Given the description of an element on the screen output the (x, y) to click on. 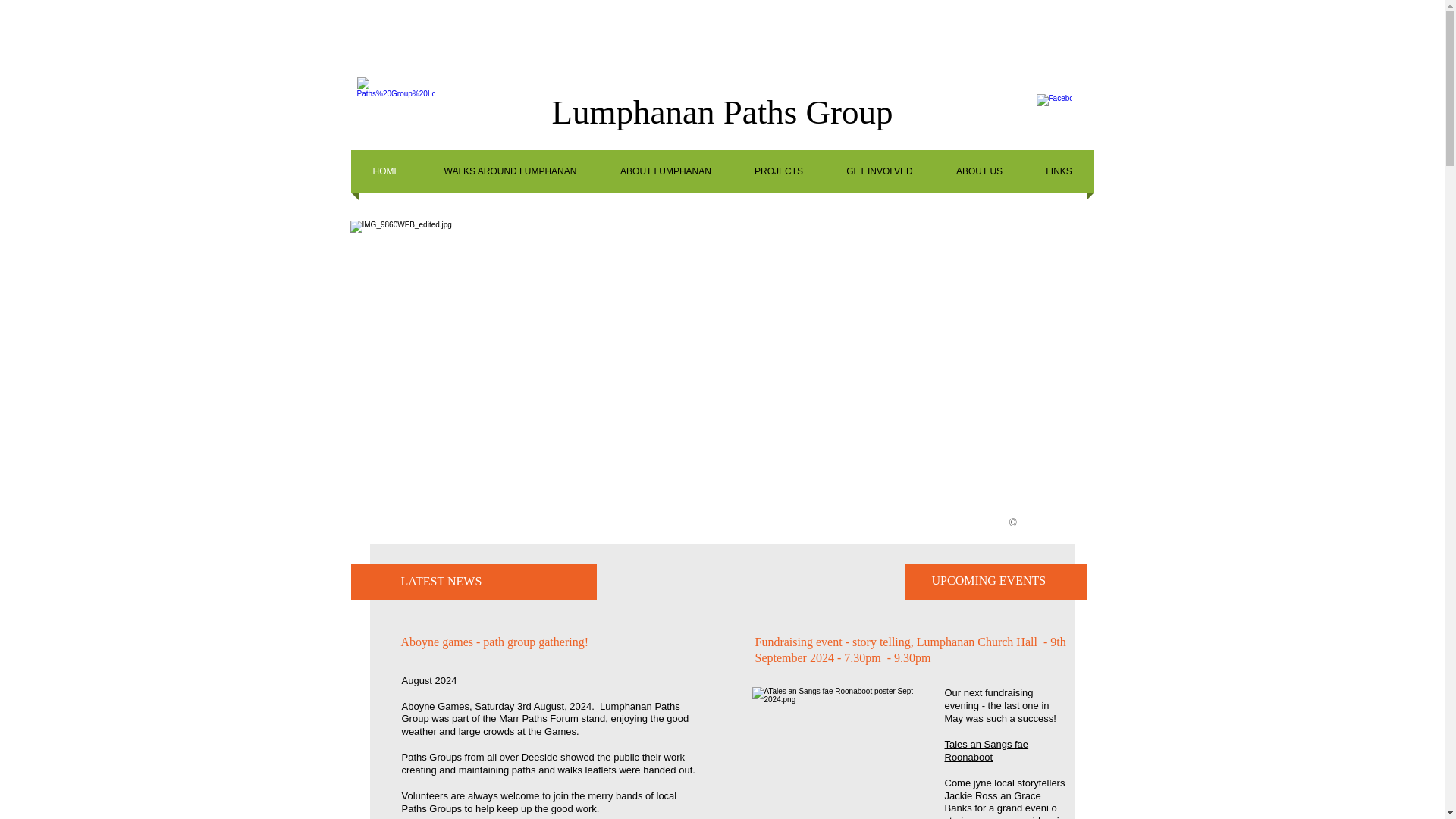
ABOUT LUMPHANAN (665, 170)
PROJECTS (778, 170)
ABOUT US (978, 170)
WALKS AROUND LUMPHANAN (510, 170)
HOME (386, 170)
GET INVOLVED (879, 170)
Lumphanan Paths Group (722, 112)
LINKS (1058, 170)
